Given the description of an element on the screen output the (x, y) to click on. 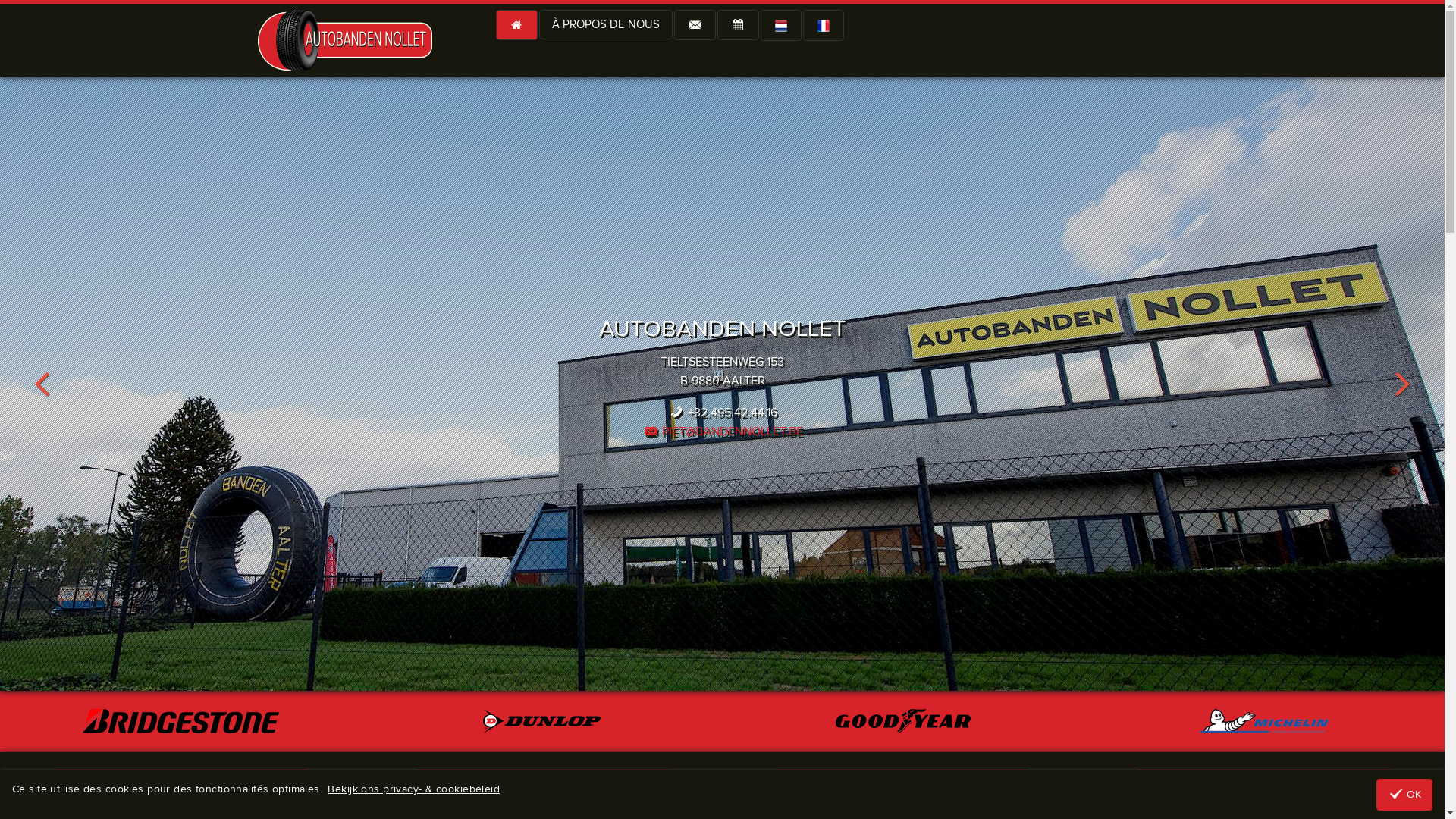
 OK Element type: text (1404, 794)
Contactez pneus Nollet Element type: hover (694, 24)
Autobanden Nollet Aalter - nl Element type: hover (779, 24)
volgende slide Element type: text (1402, 383)
FORMULAIRE DE CONTACT Element type: text (902, 785)
Homepage Autobanden Nollet Aalter Element type: hover (344, 39)
PIET@BANDENNOLLET.BE Element type: text (541, 785)
vorige slide Element type: text (41, 383)
Bienvenue chez 'autobanden Nollet' Element type: hover (516, 24)
Maak online een afspraak Element type: hover (738, 24)
Bekijk ons privacy- & cookiebeleid Element type: text (413, 789)
+32.495.42.44.16 Element type: text (180, 785)
PIET@BANDENNOLLET.BE Element type: text (721, 431)
ONLINE AGENDA Element type: text (1264, 785)
